Given the description of an element on the screen output the (x, y) to click on. 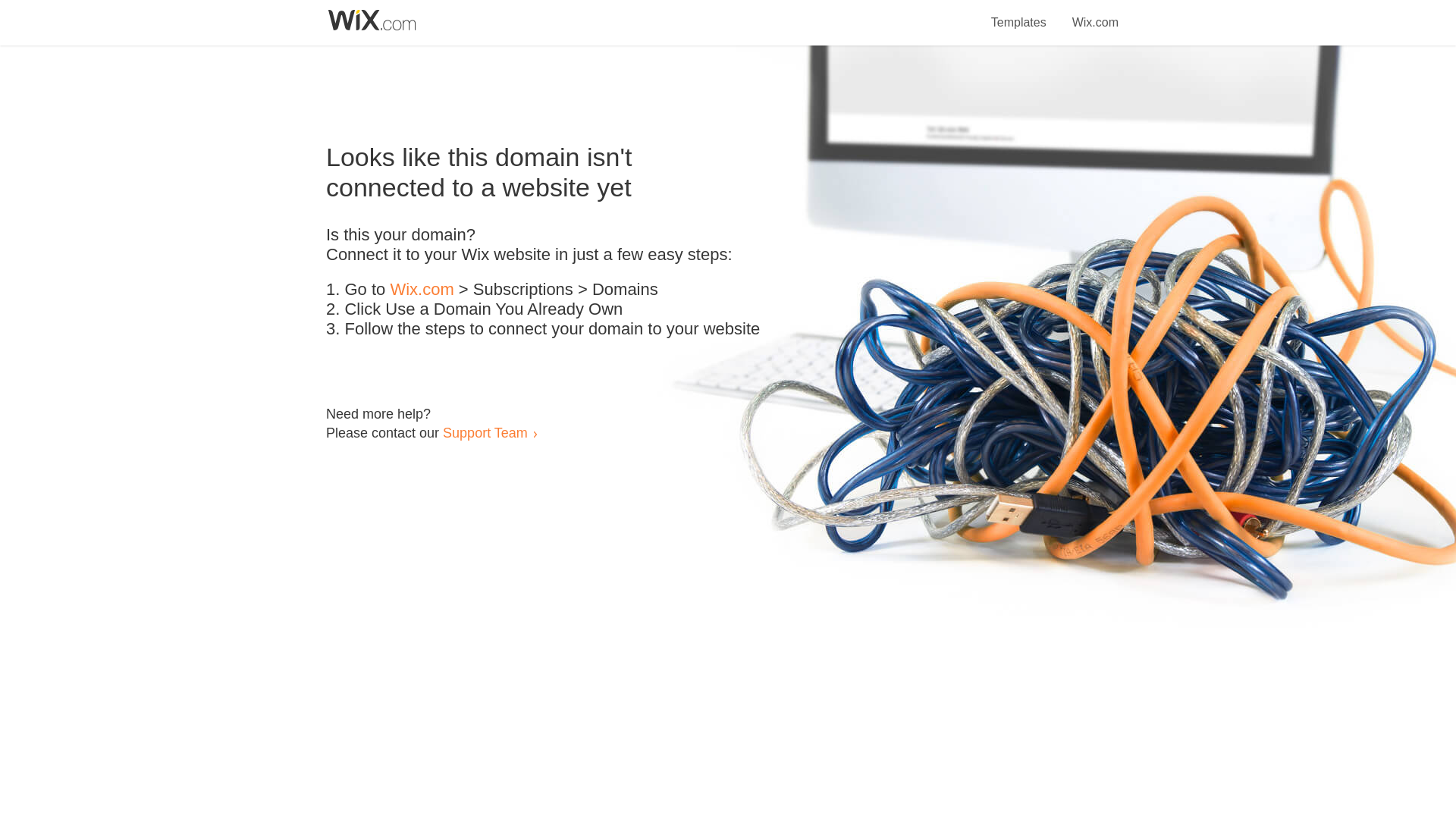
Wix.com (1095, 14)
Support Team (484, 432)
Templates (1018, 14)
Wix.com (421, 289)
